Given the description of an element on the screen output the (x, y) to click on. 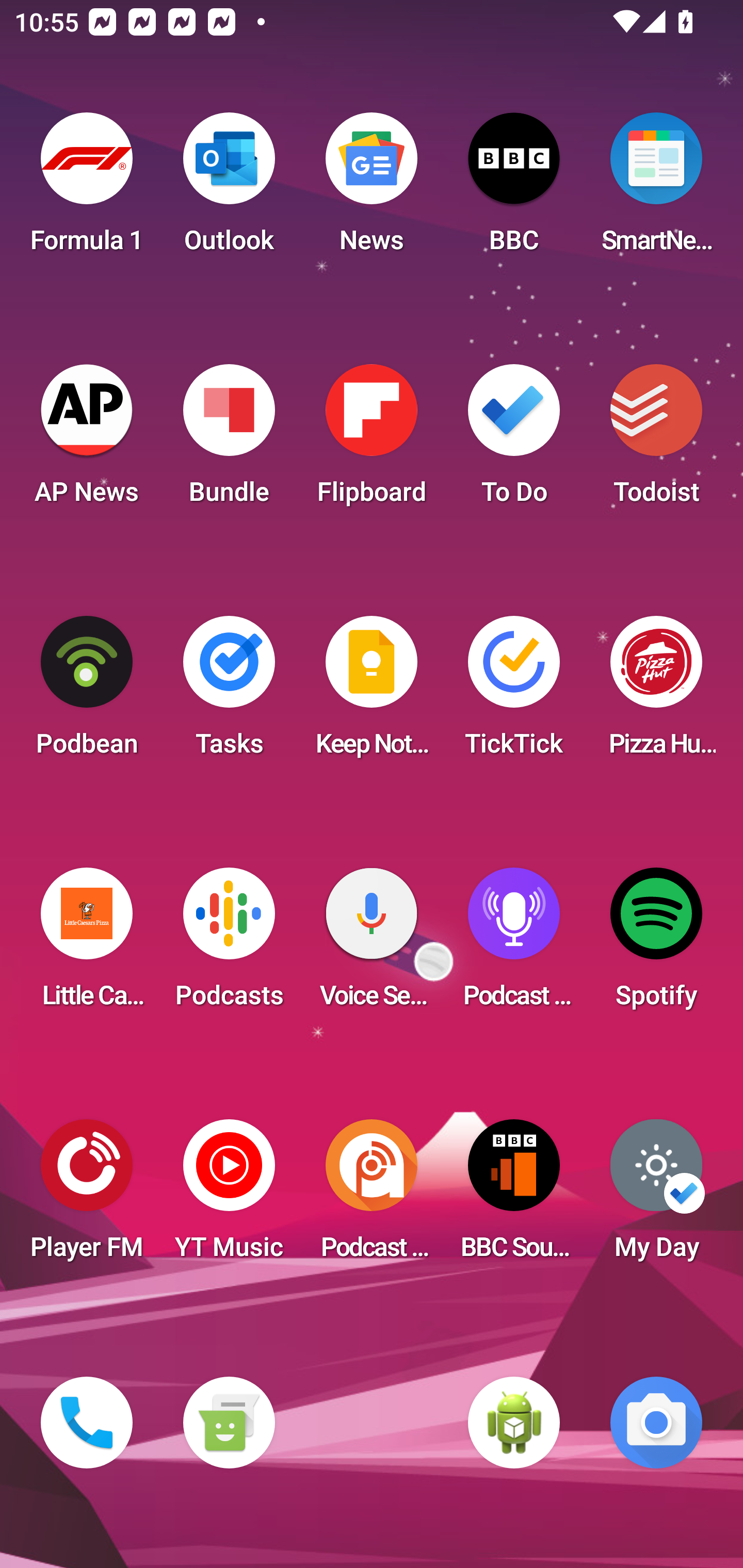
Formula 1 (86, 188)
Outlook (228, 188)
News (371, 188)
BBC (513, 188)
SmartNews (656, 188)
AP News (86, 440)
Bundle (228, 440)
Flipboard (371, 440)
To Do (513, 440)
Todoist (656, 440)
Podbean (86, 692)
Tasks (228, 692)
Keep Notes (371, 692)
TickTick (513, 692)
Pizza Hut HK & Macau (656, 692)
Little Caesars Pizza (86, 943)
Podcasts (228, 943)
Voice Search (371, 943)
Podcast Player (513, 943)
Spotify (656, 943)
Player FM (86, 1195)
YT Music (228, 1195)
Podcast Addict (371, 1195)
BBC Sounds (513, 1195)
My Day (656, 1195)
Phone (86, 1422)
Messaging (228, 1422)
WebView Browser Tester (513, 1422)
Camera (656, 1422)
